Given the description of an element on the screen output the (x, y) to click on. 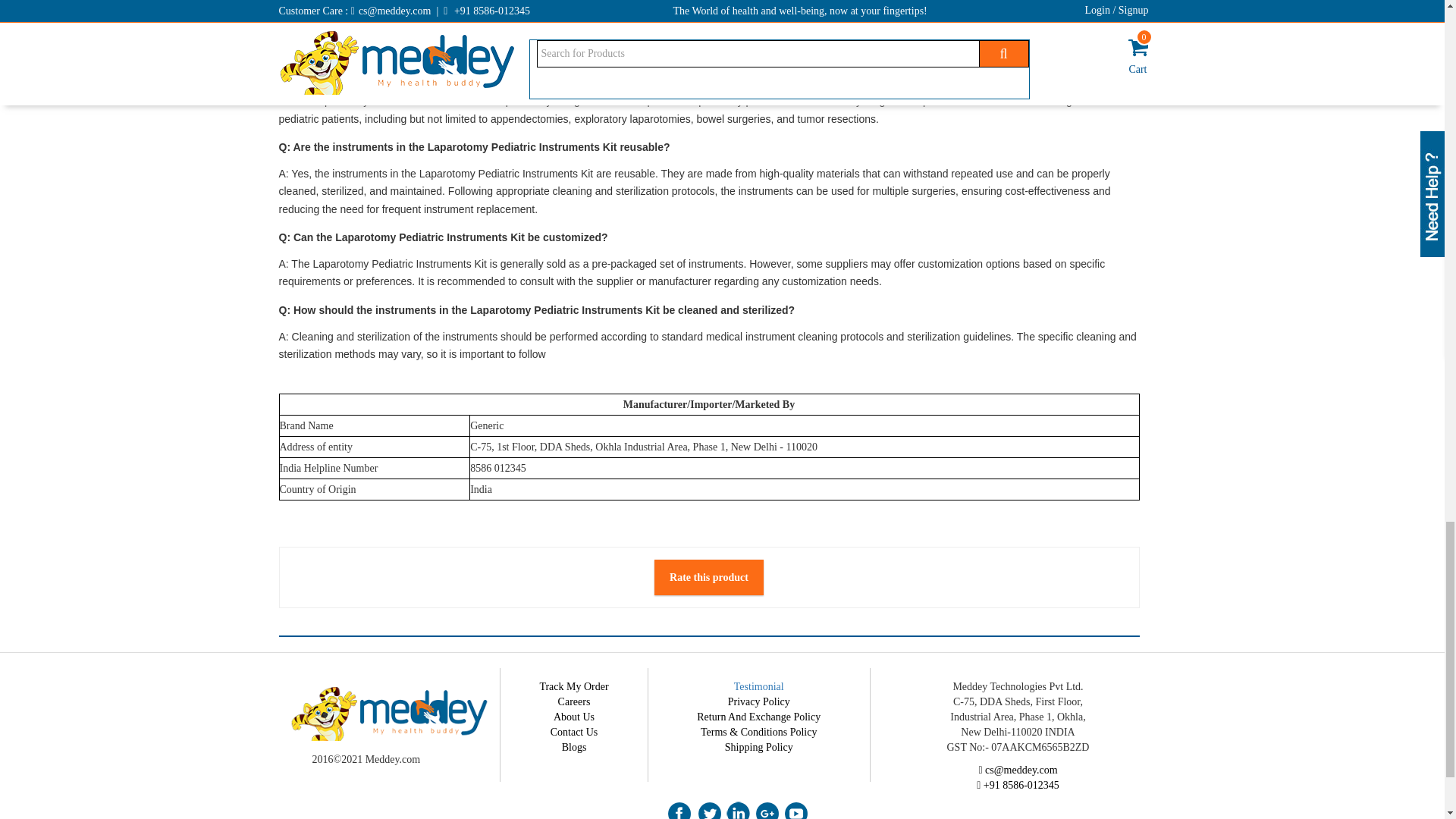
Track My Order (573, 686)
Testimonial (758, 686)
Rate this product (707, 577)
Blogs (574, 747)
Careers (574, 701)
Contact Us (574, 731)
About Us (573, 716)
